Given the description of an element on the screen output the (x, y) to click on. 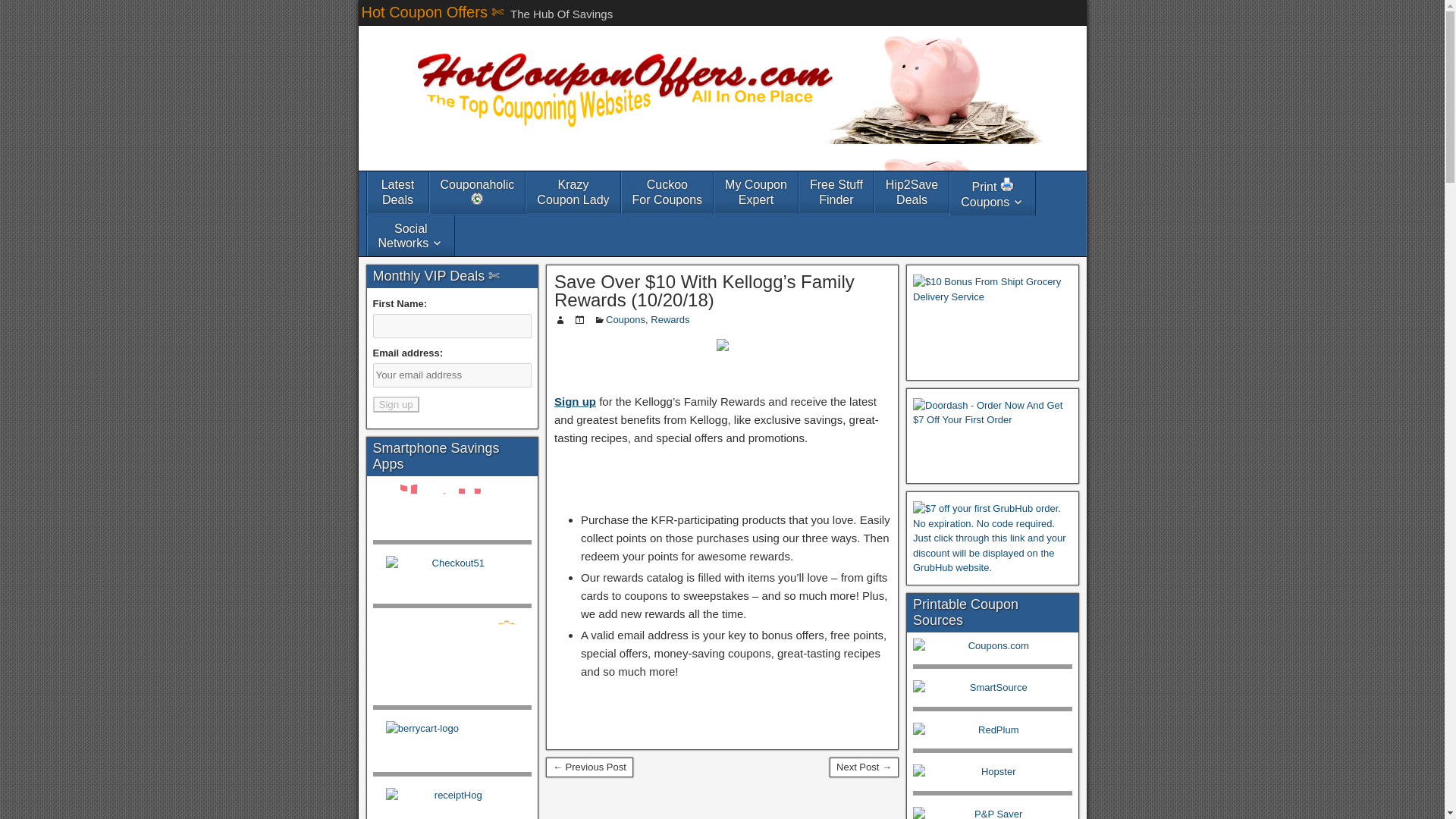
Sign up (667, 191)
Coupons (755, 191)
Sign up (574, 400)
Sign up (572, 191)
Rewards (625, 319)
Couponaholic (395, 404)
